Given the description of an element on the screen output the (x, y) to click on. 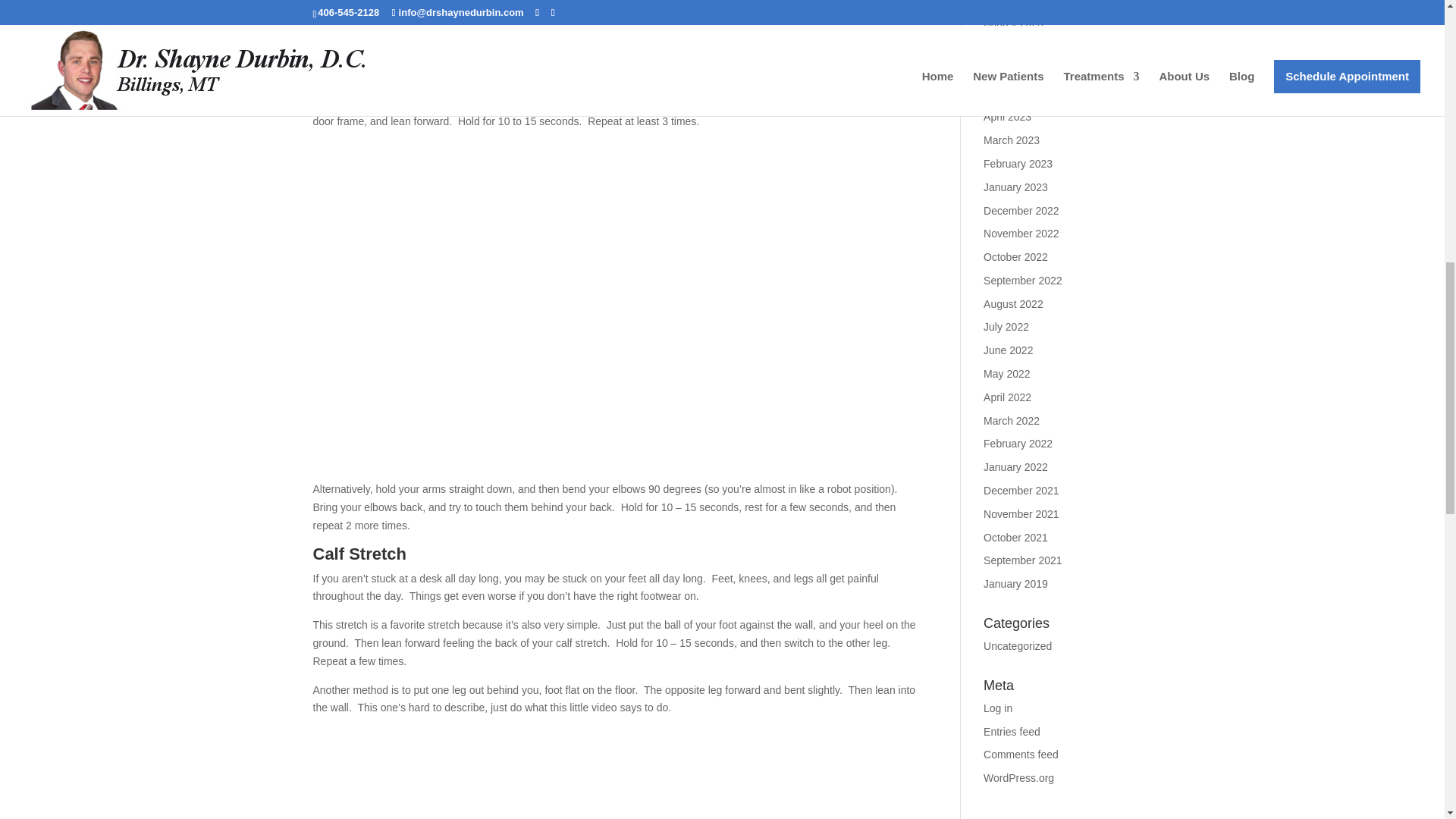
YouTube video player (614, 773)
